Given the description of an element on the screen output the (x, y) to click on. 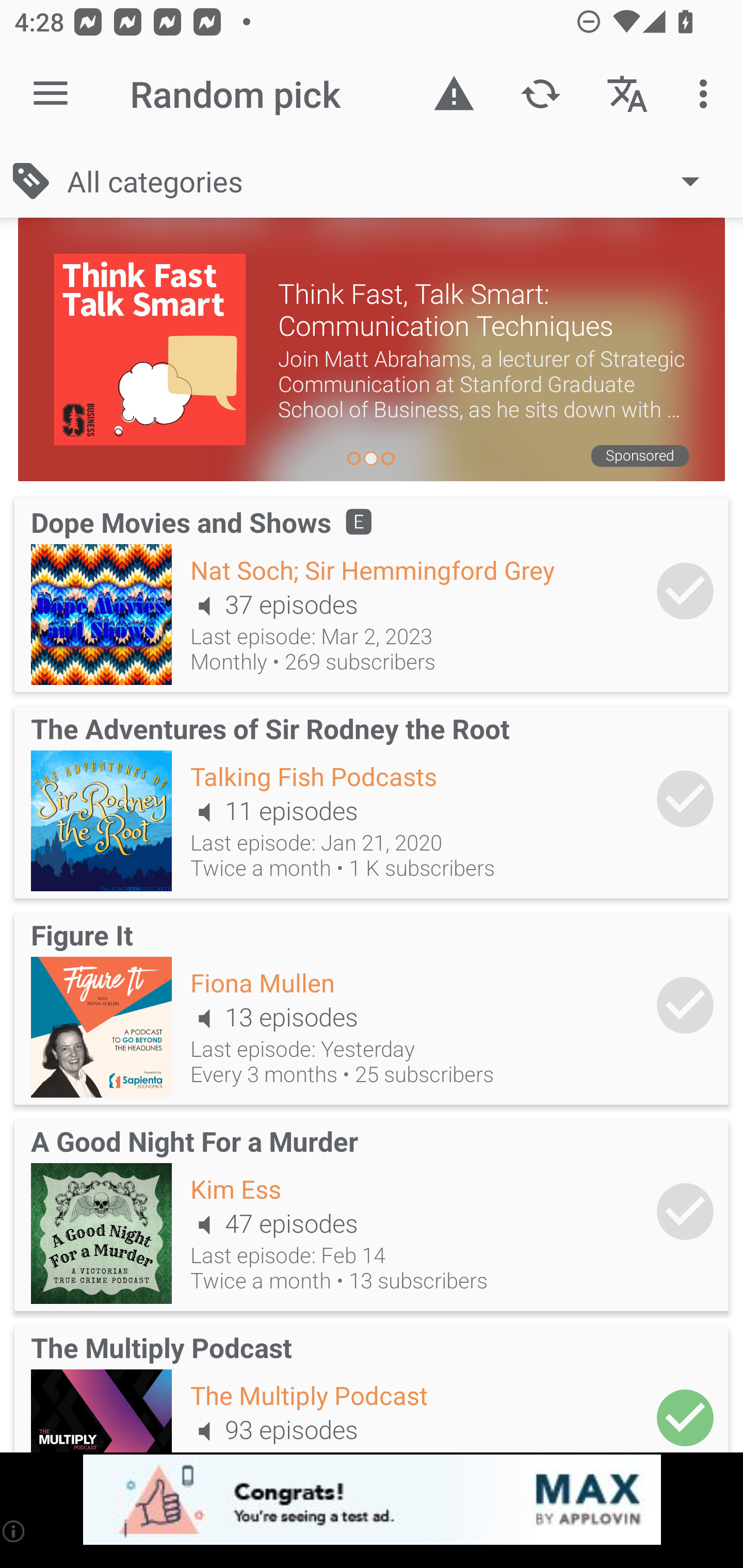
Open navigation sidebar (50, 93)
Report inappropriate content (453, 93)
Update top podcasts list (540, 93)
Podcast languages (626, 93)
More options (706, 93)
All categories (393, 180)
Add (684, 591)
Add (684, 798)
Add (684, 1004)
Add (684, 1211)
Add (684, 1413)
app-monetization (371, 1500)
(i) (14, 1531)
